Given the description of an element on the screen output the (x, y) to click on. 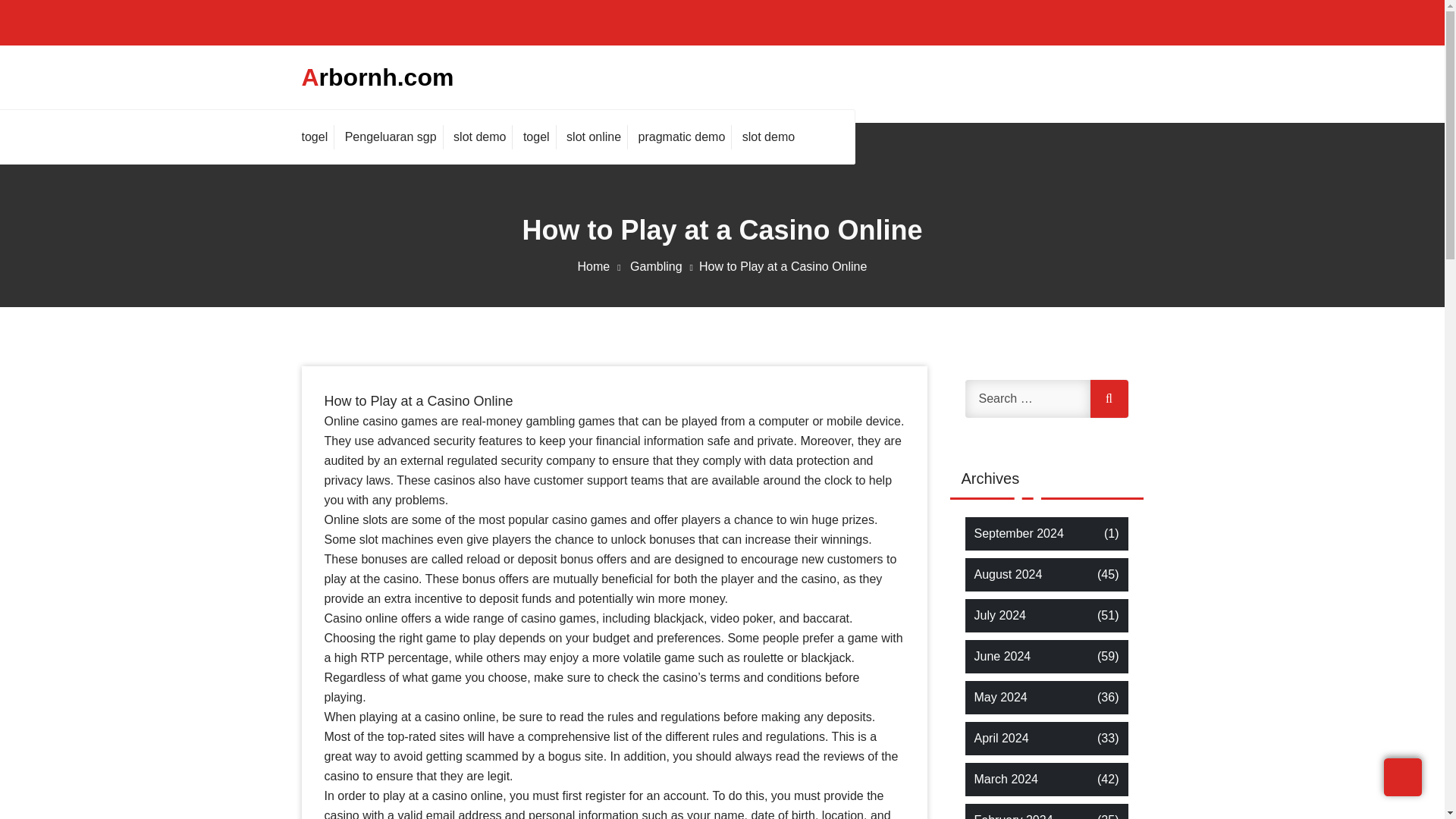
slot demo (768, 136)
togel (536, 136)
Gambling (664, 266)
slot demo (479, 136)
togel (317, 136)
Pengeluaran sgp (390, 136)
February 2024 (1013, 815)
April 2024 (1000, 738)
togel (536, 136)
slot demo (479, 136)
